Given the description of an element on the screen output the (x, y) to click on. 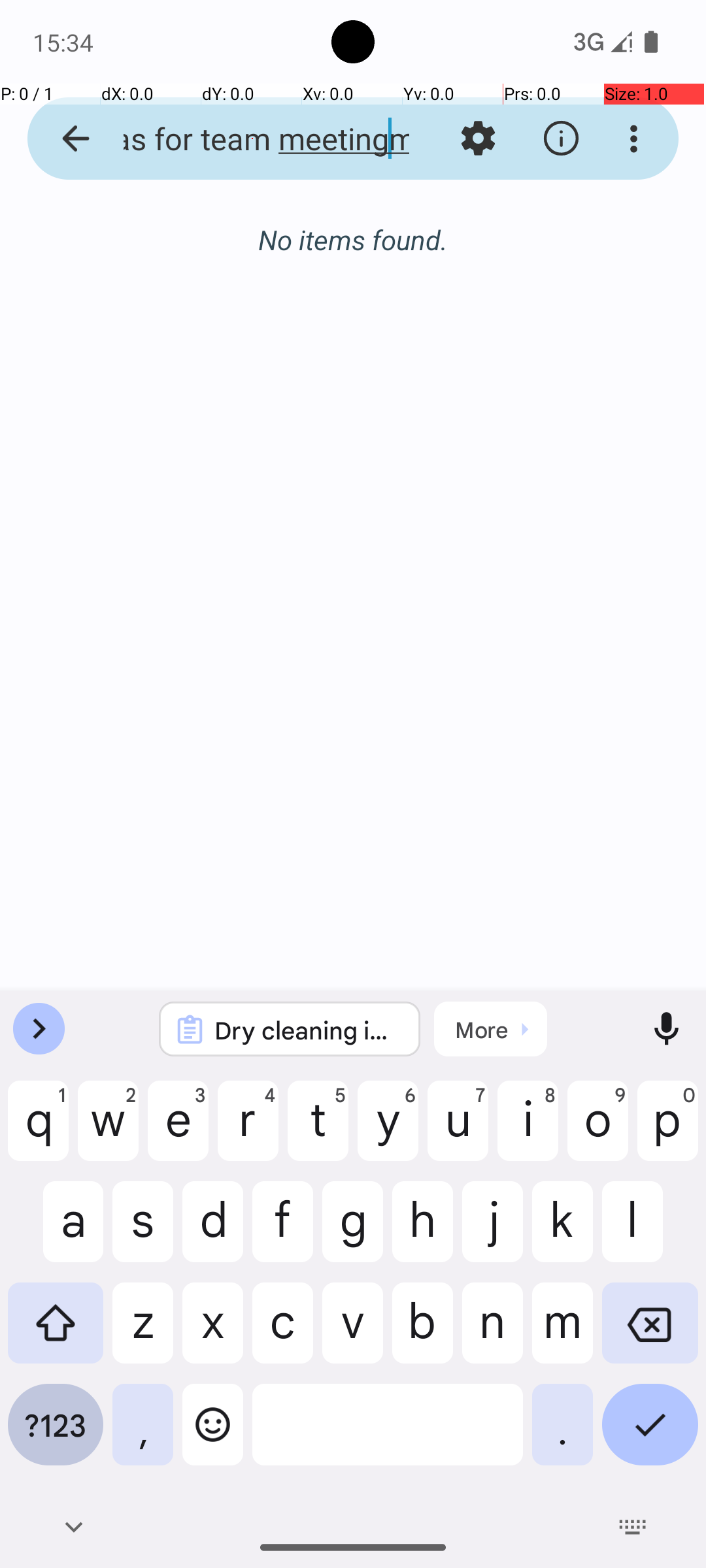
Meeting notes froProject ideas for team meetingm last week Element type: android.widget.EditText (252, 138)
No stored conversations have been found Element type: android.widget.TextView (353, 246)
Start a conversation Element type: android.widget.TextView (352, 311)
